Given the description of an element on the screen output the (x, y) to click on. 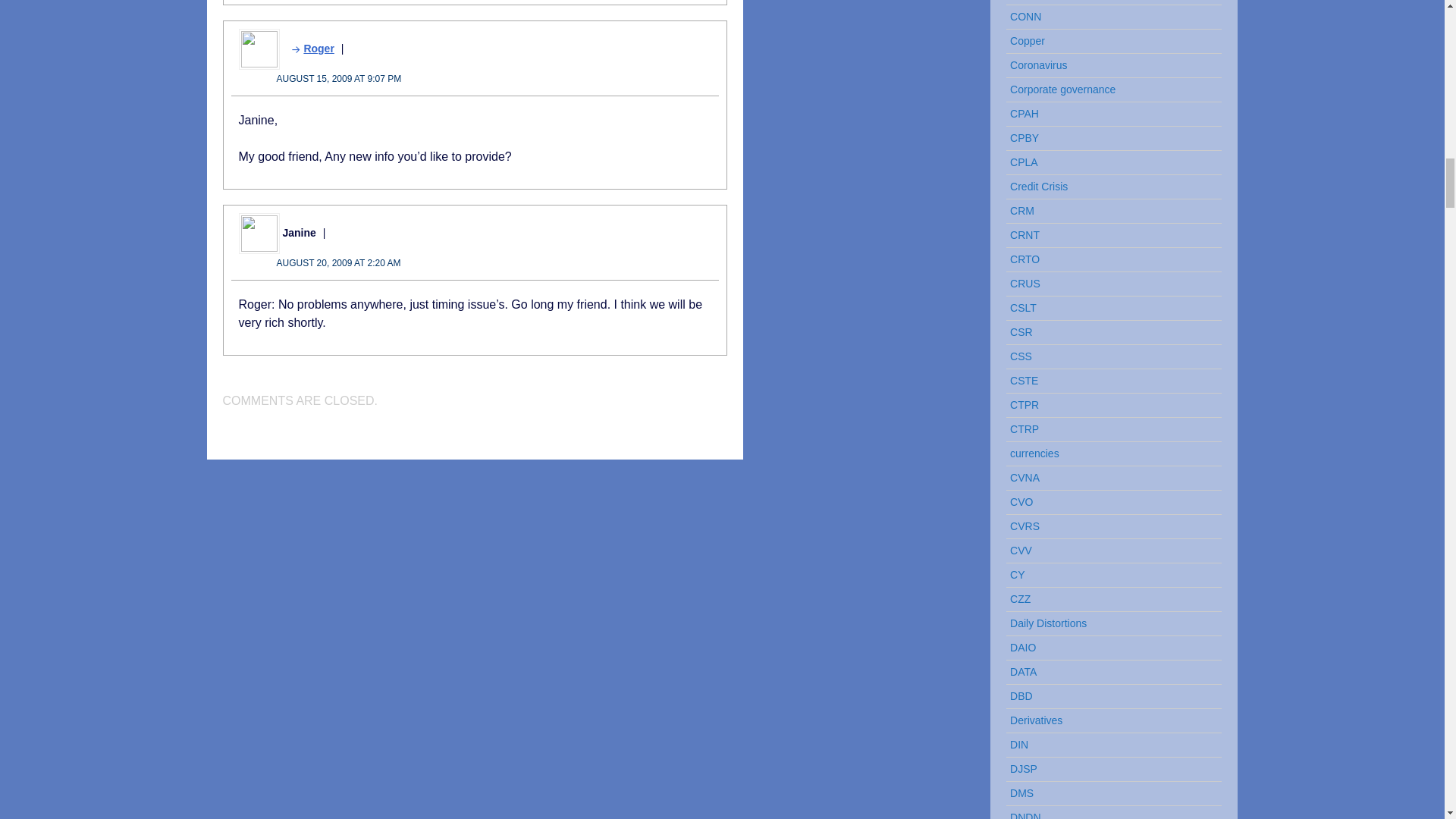
AUGUST 15, 2009 AT 9:07 PM (338, 78)
AUGUST 20, 2009 AT 2:20 AM (338, 262)
Roger (307, 48)
